Given the description of an element on the screen output the (x, y) to click on. 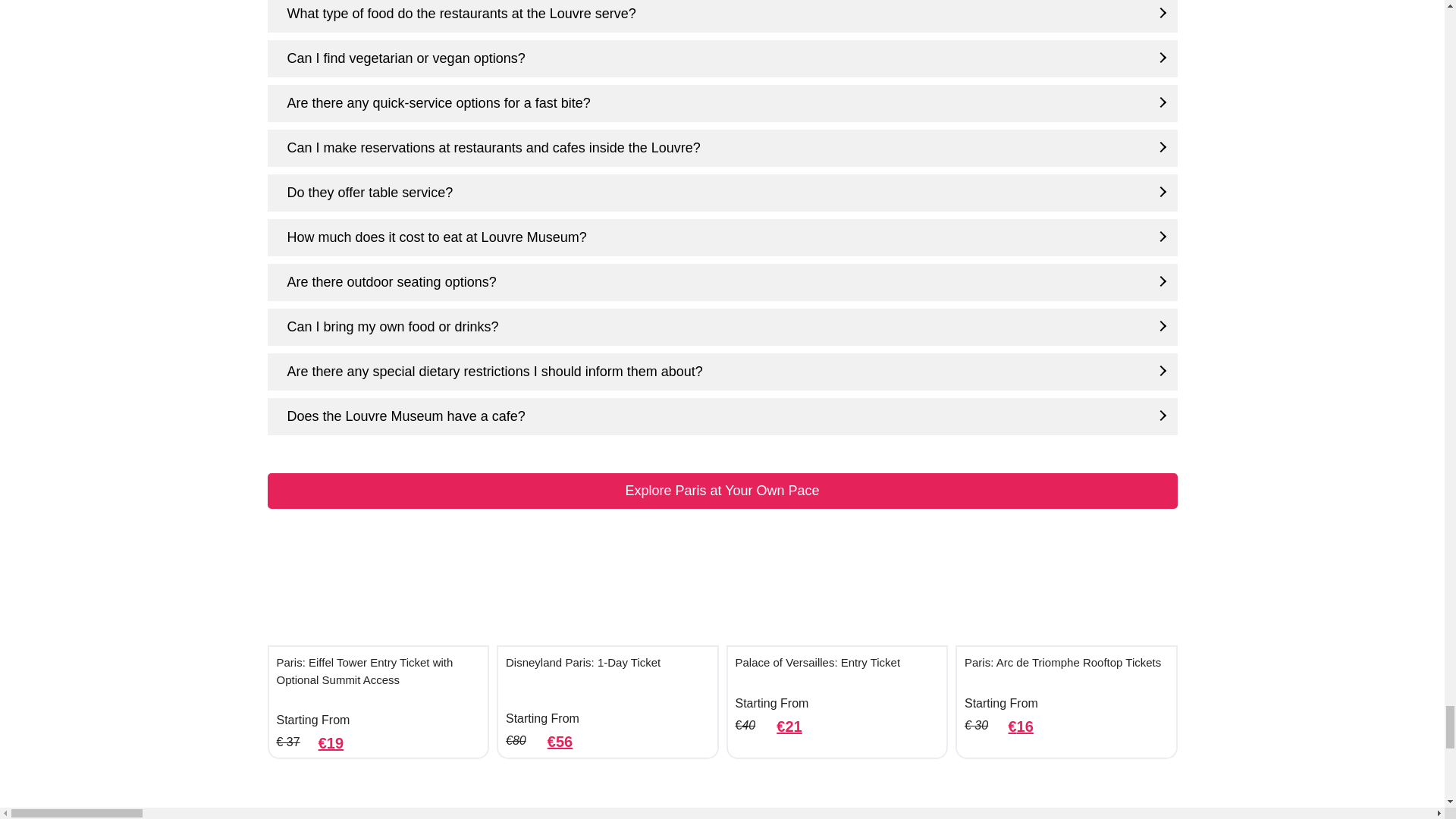
Arc de Triomphe (1066, 588)
Seine Cruise (377, 800)
Disneyland Paris in paris (607, 588)
Sainte-Chapelle (607, 800)
Palace of Versailles (837, 588)
Eiffel Tower Final (377, 588)
